Given the description of an element on the screen output the (x, y) to click on. 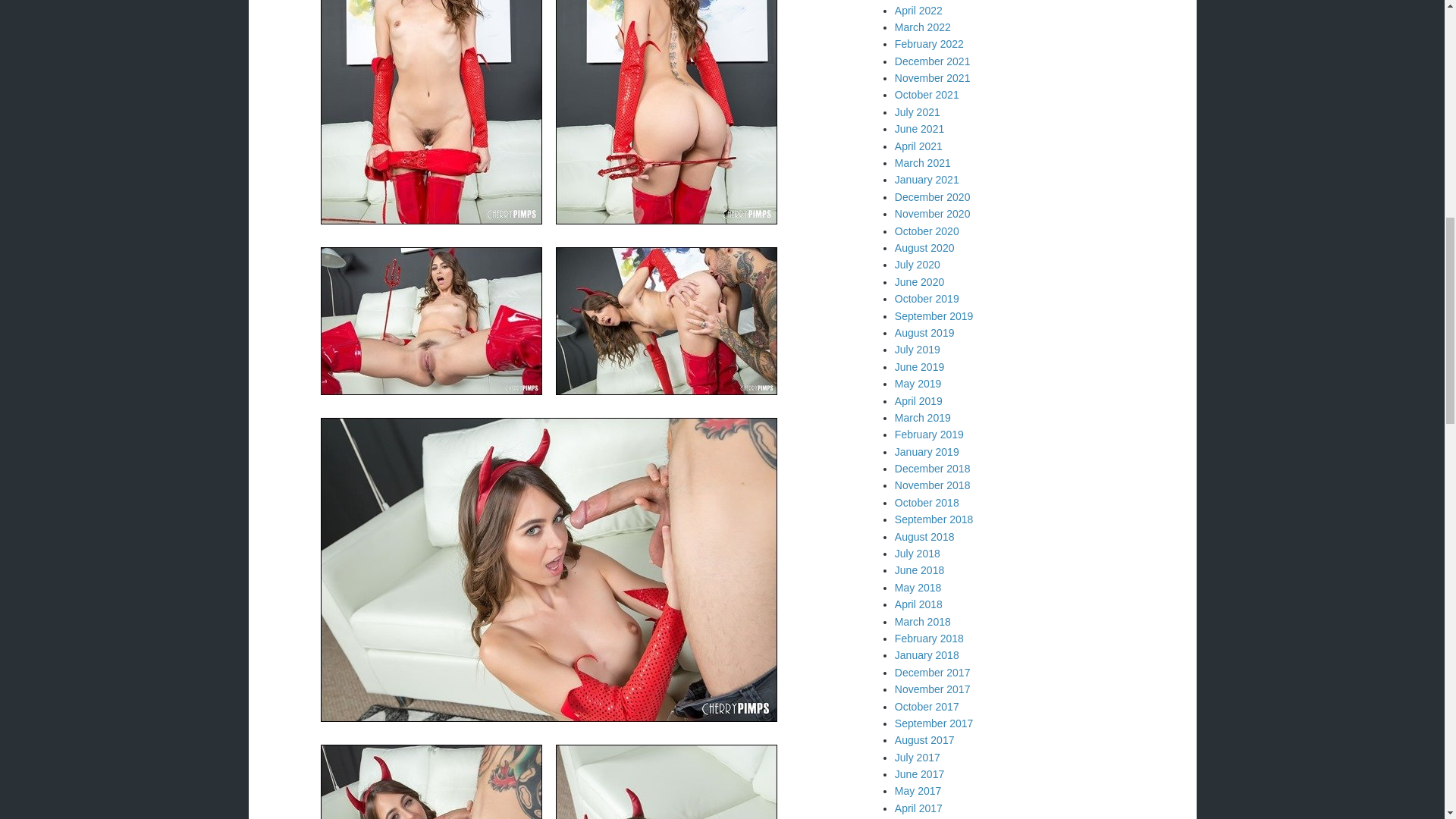
April 2022 (918, 10)
February 2022 (929, 43)
March 2022 (922, 27)
